Given the description of an element on the screen output the (x, y) to click on. 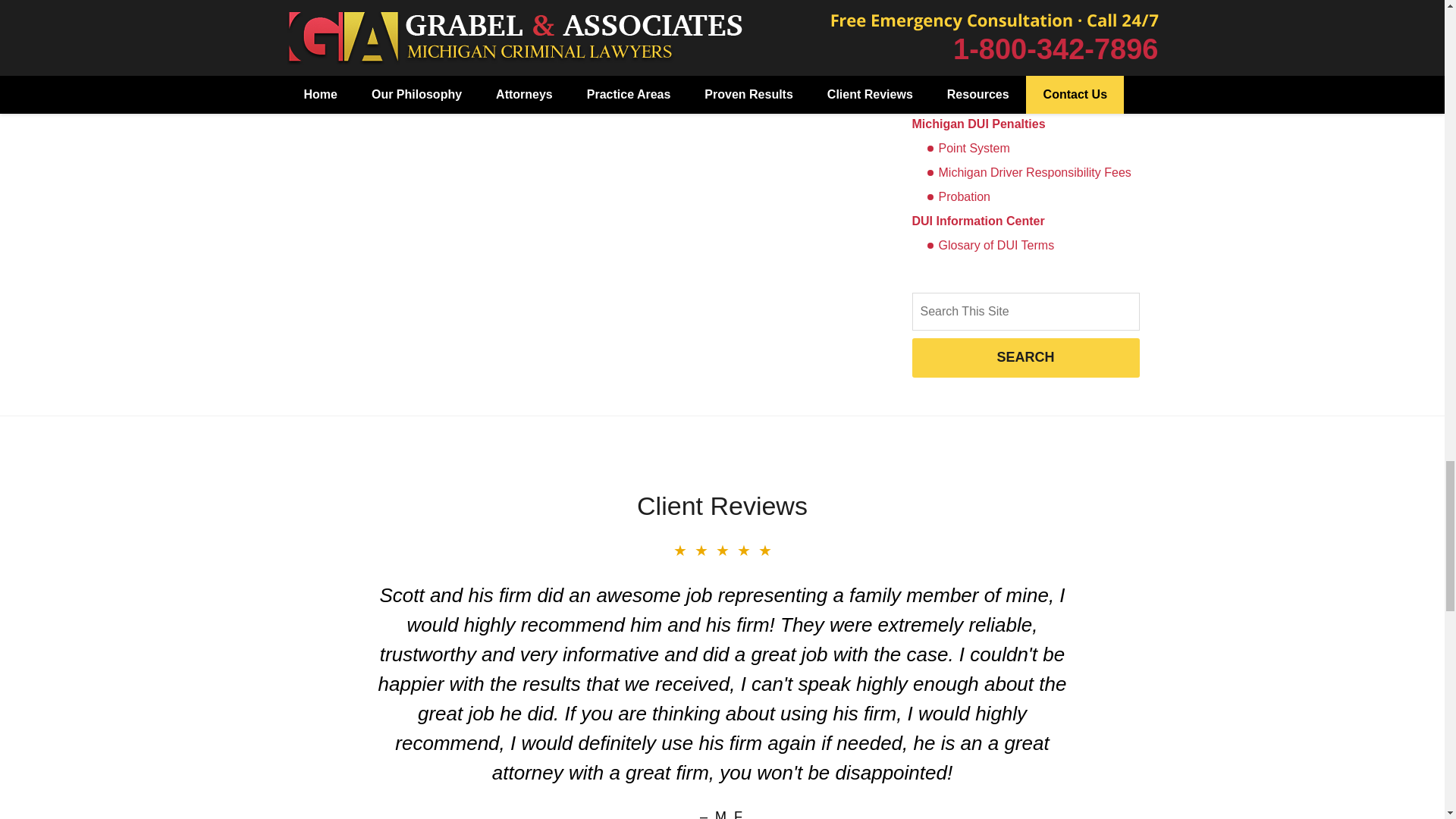
Search (1024, 311)
